Given the description of an element on the screen output the (x, y) to click on. 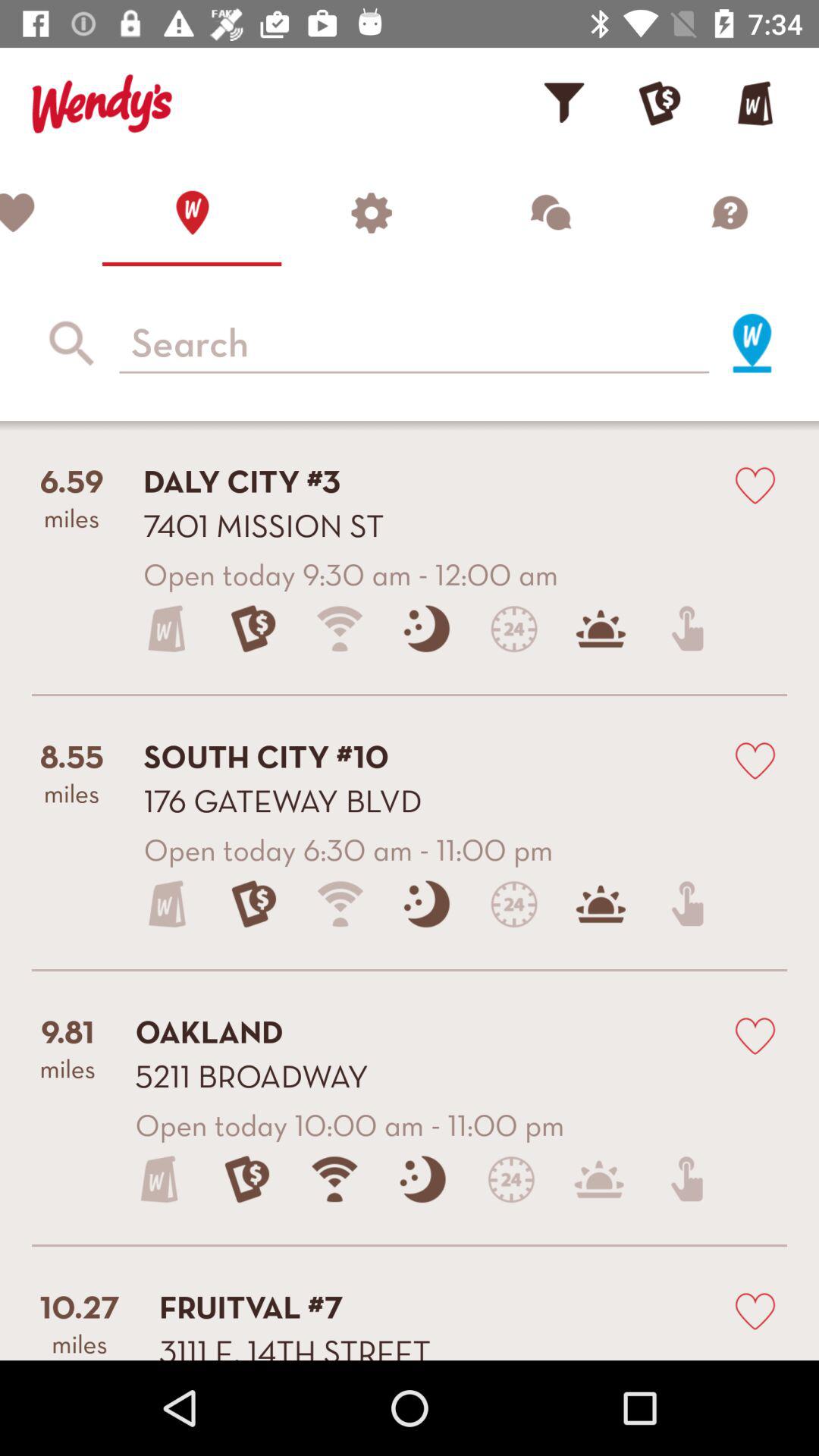
gear knob icon is for settings (370, 212)
